Given the description of an element on the screen output the (x, y) to click on. 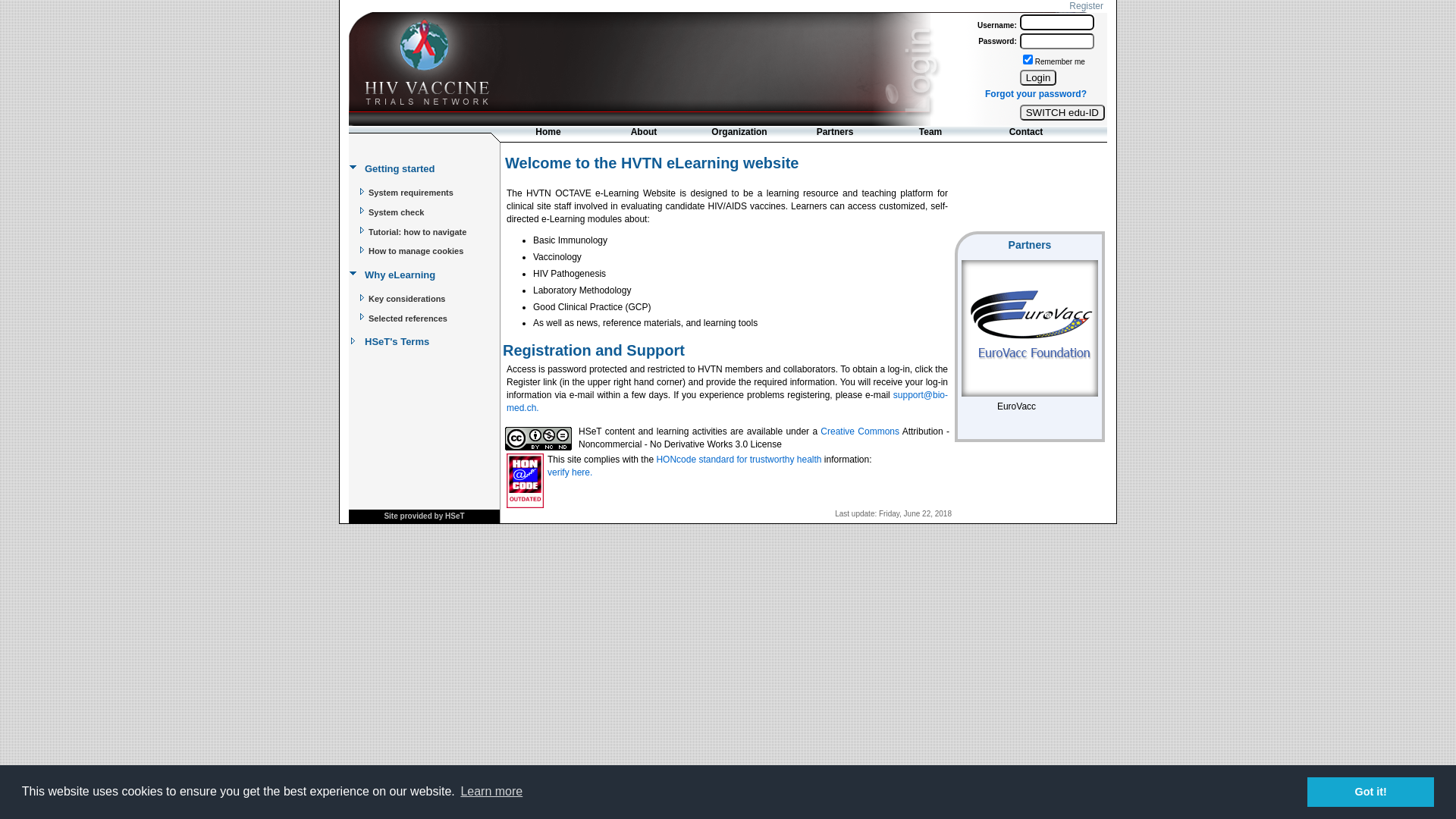
Partners Element type: text (834, 133)
Site provided by HSeT Element type: text (423, 515)
Got it! Element type: text (1370, 791)
Login Element type: hover (1056, 22)
Home Element type: text (548, 133)
Team Element type: text (930, 133)
verify here. Element type: text (569, 472)
support@bio-med.ch. Element type: text (726, 401)
About Element type: text (643, 133)
Learn more Element type: text (491, 791)
Organization Element type: text (739, 133)
Creative Commons Element type: text (859, 431)
HONcode standard for trustworthy health Element type: text (738, 459)
Register Element type: text (1086, 5)
Login Element type: text (1038, 77)
Contact Element type: text (1025, 133)
Password Element type: hover (1056, 41)
SWITCH edu-ID Element type: text (1061, 112)
Forgot your password? Element type: text (1035, 93)
